Given the description of an element on the screen output the (x, y) to click on. 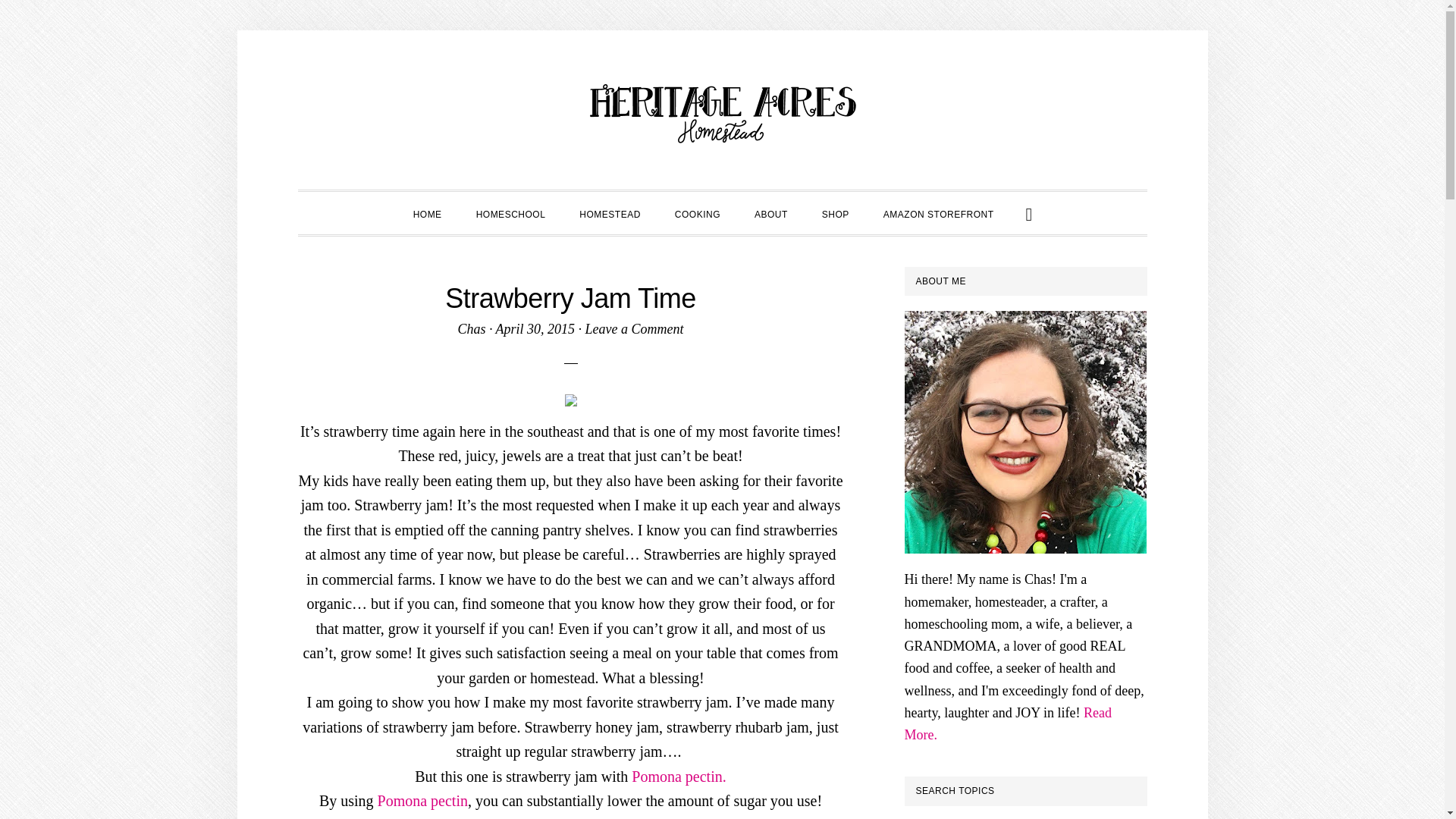
Leave a Comment (634, 328)
Chas (470, 328)
Pomona pectin (422, 800)
ABOUT (771, 212)
SHOP (835, 212)
HOMESCHOOL (510, 212)
HOME (427, 212)
AMAZON STOREFRONT (938, 212)
Pomona pectin. (678, 776)
COOKING (697, 212)
HOMESTEAD (610, 212)
HERITAGE ACRES HOMESTEAD (721, 113)
